Given the description of an element on the screen output the (x, y) to click on. 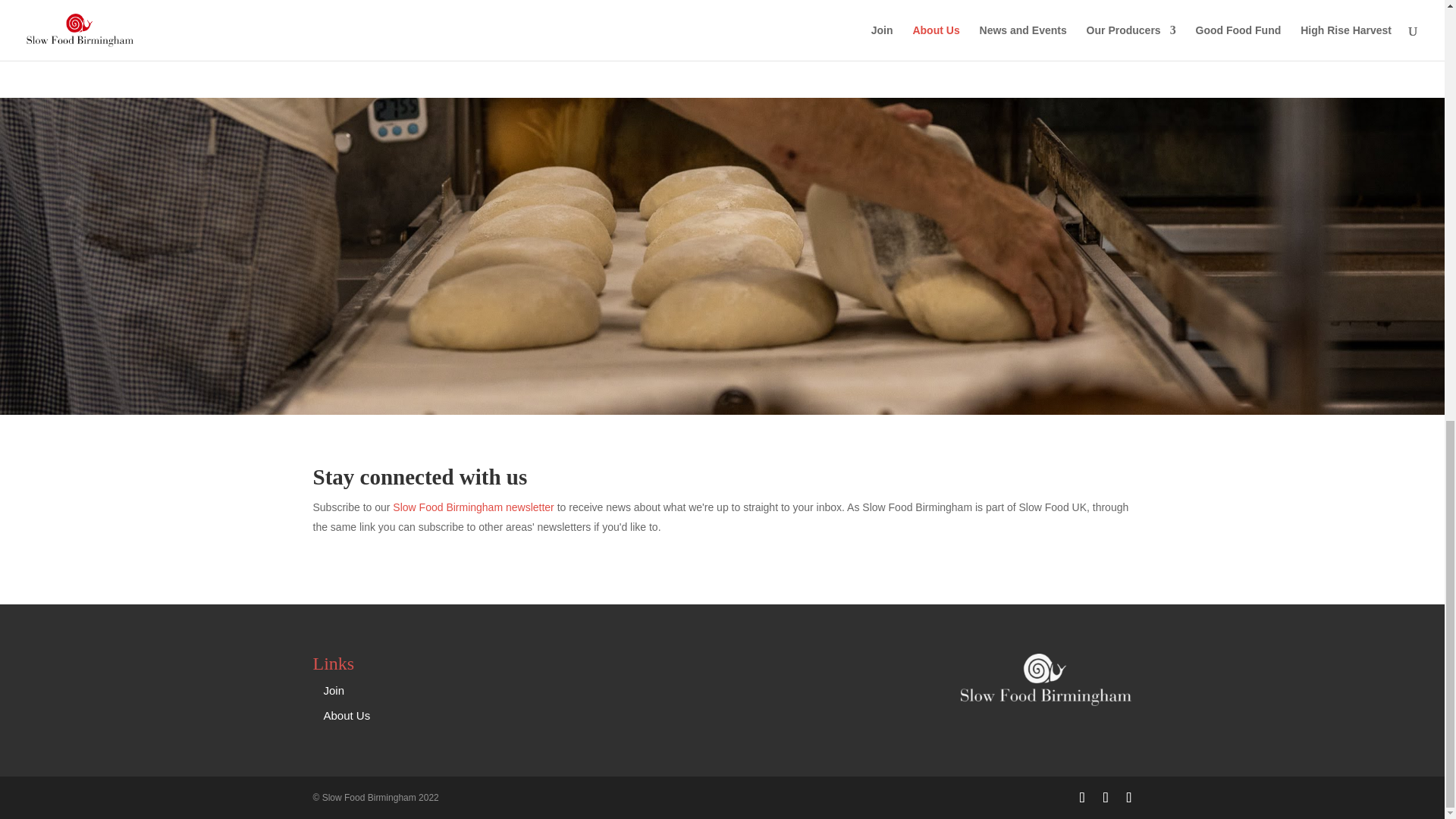
Terra Madre Foundation (818, 10)
Join (333, 689)
About Us (346, 715)
Slow Food Birmingham newsletter (473, 507)
produce-03 (433, 25)
